Given the description of an element on the screen output the (x, y) to click on. 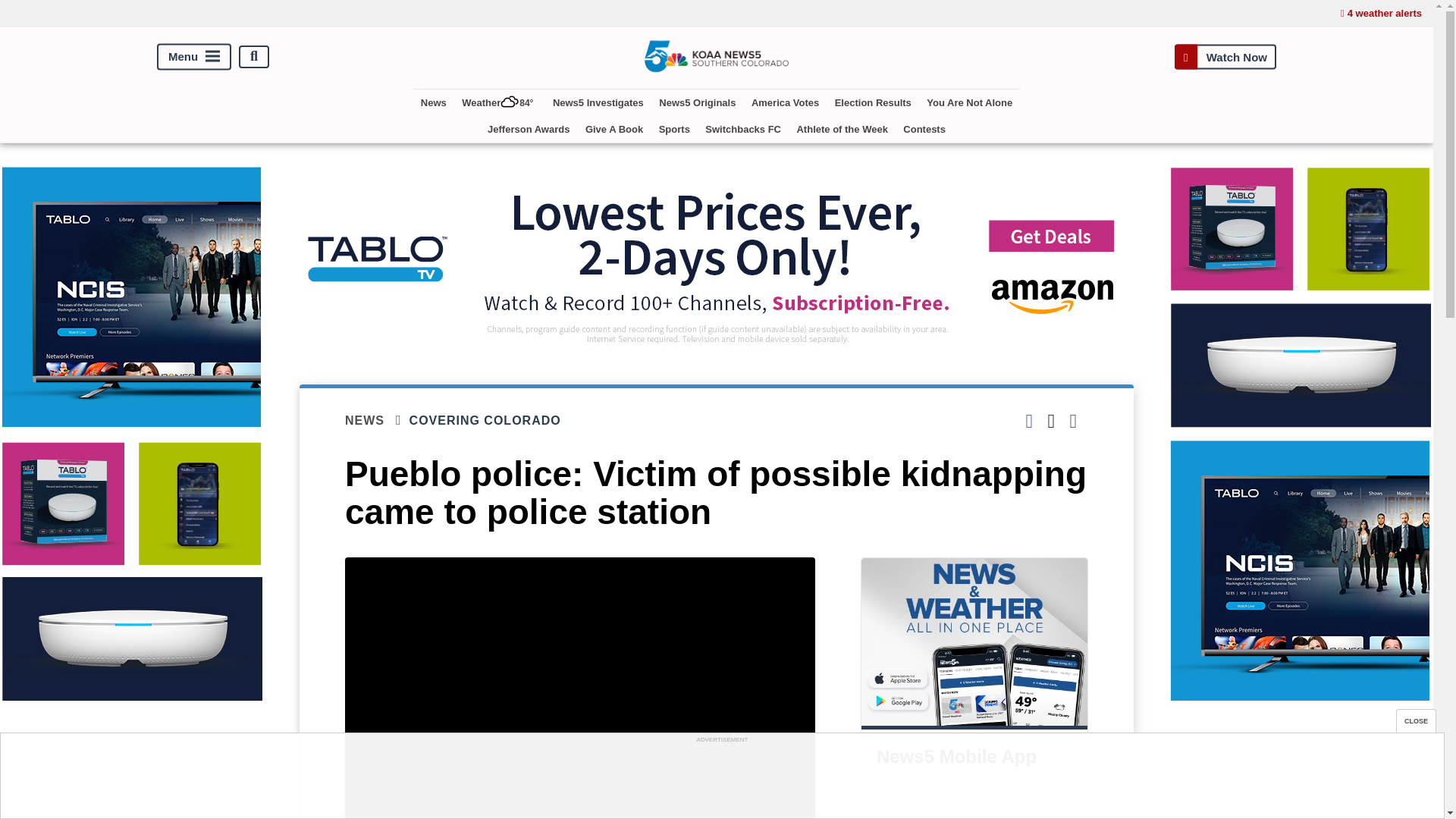
Watch Now (1224, 56)
Menu (194, 56)
3rd party ad content (721, 780)
